Given the description of an element on the screen output the (x, y) to click on. 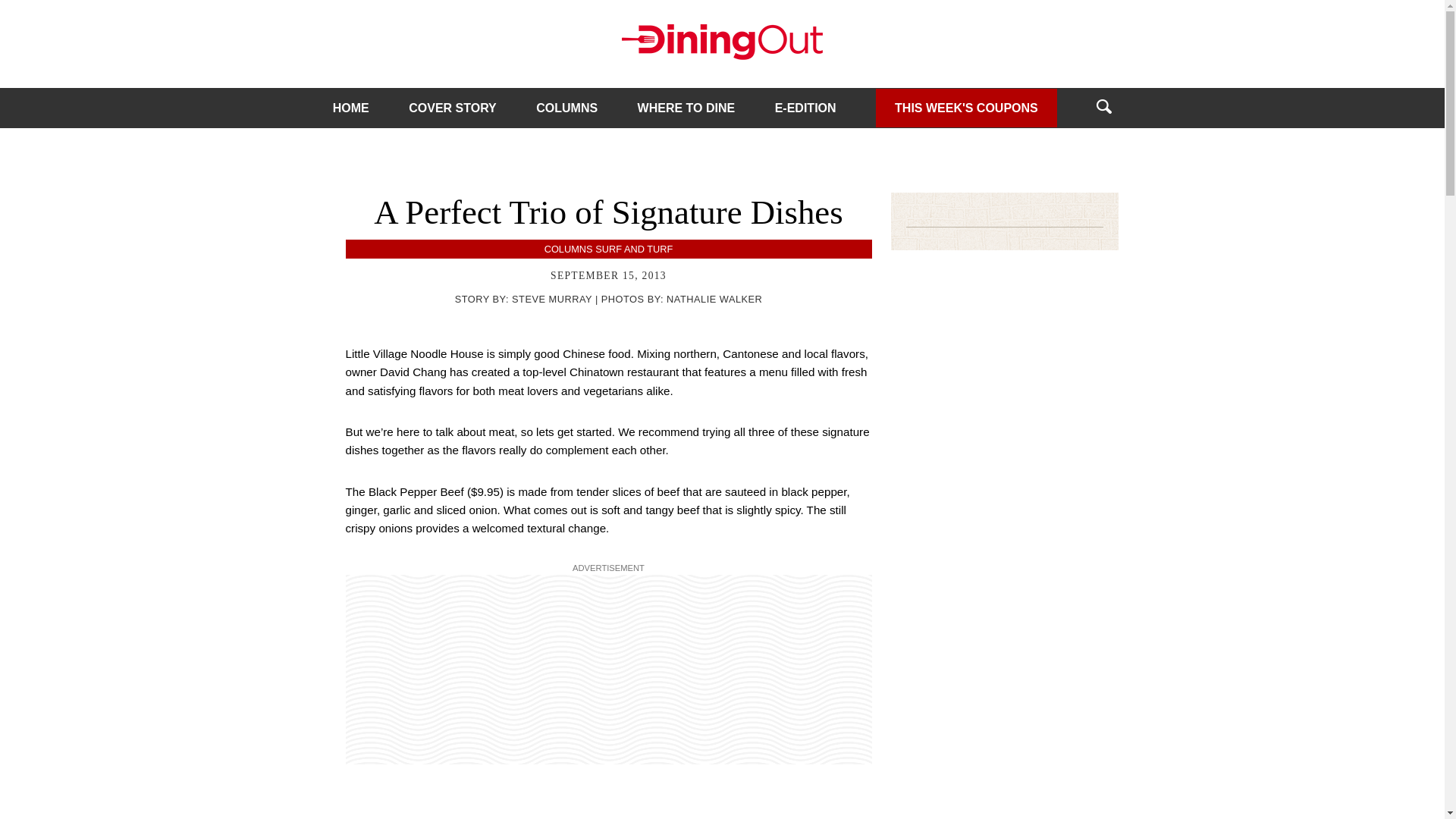
COLUMNS (568, 248)
SURF AND TURF (633, 248)
WHERE TO DINE (686, 107)
Columns (568, 248)
THIS WEEK'S COUPONS (966, 106)
Surf and Turf (633, 248)
HOME (351, 107)
COVER STORY (452, 107)
